Given the description of an element on the screen output the (x, y) to click on. 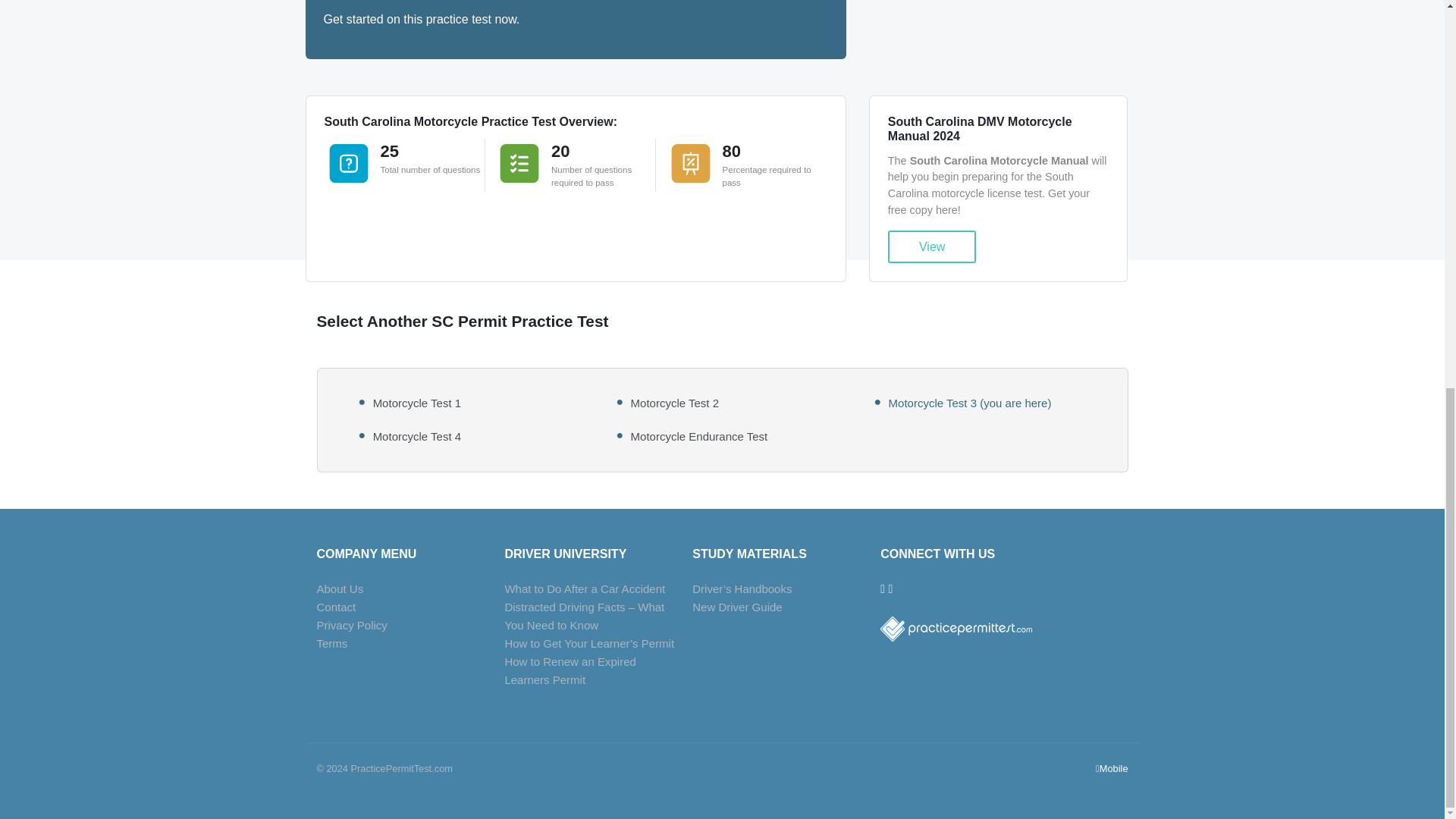
Motorcycle Test 4 (416, 436)
Mobile (1111, 768)
Terms (332, 643)
Motorcycle Test 1 (416, 402)
Motorcycle Test 2 (674, 402)
New Driver Guide (737, 606)
View (932, 246)
Motorcycle Endurance Test (699, 436)
Contact (336, 606)
About Us (340, 588)
What to Do After a Car Accident (584, 588)
Privacy Policy (352, 625)
Motorcycle Test 2 (674, 402)
How to Renew an Expired Learners Permit (568, 670)
Motorcycle Endurance Test (699, 436)
